Given the description of an element on the screen output the (x, y) to click on. 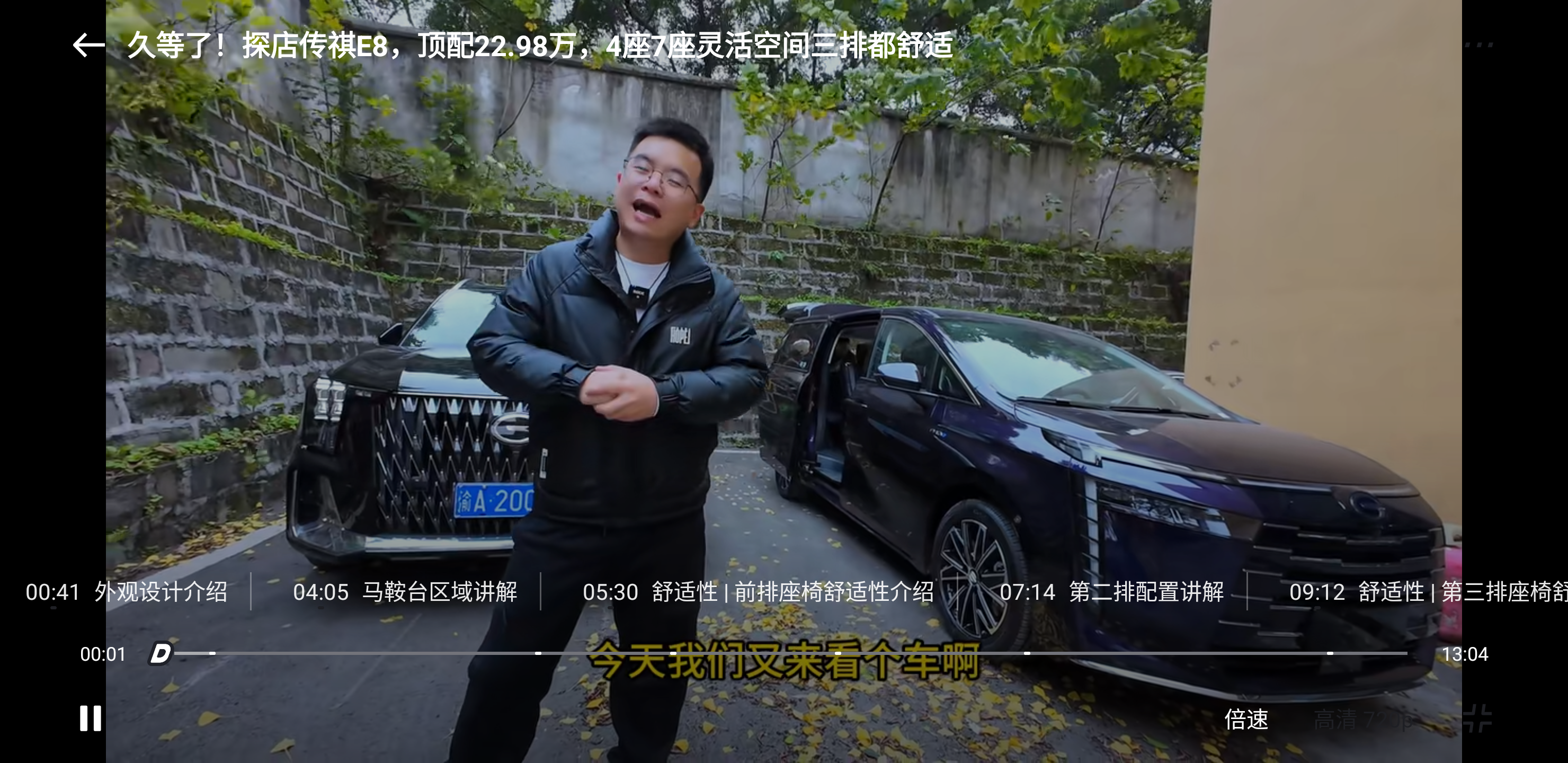
 (89, 44)
 (1478, 44)
00:41 外观设计介绍 (125, 591)
04:05 马鞍台区域讲解 (404, 591)
05:30 舒适性 | 前排座椅舒适性介绍 (757, 591)
07:14 第二排配置讲解 (1110, 591)
09:12 舒适性 | 第三排座椅舒适性介绍 (1415, 591)
 (90, 718)
 (1476, 718)
倍速 (1246, 718)
高清 720p (1363, 718)
